Given the description of an element on the screen output the (x, y) to click on. 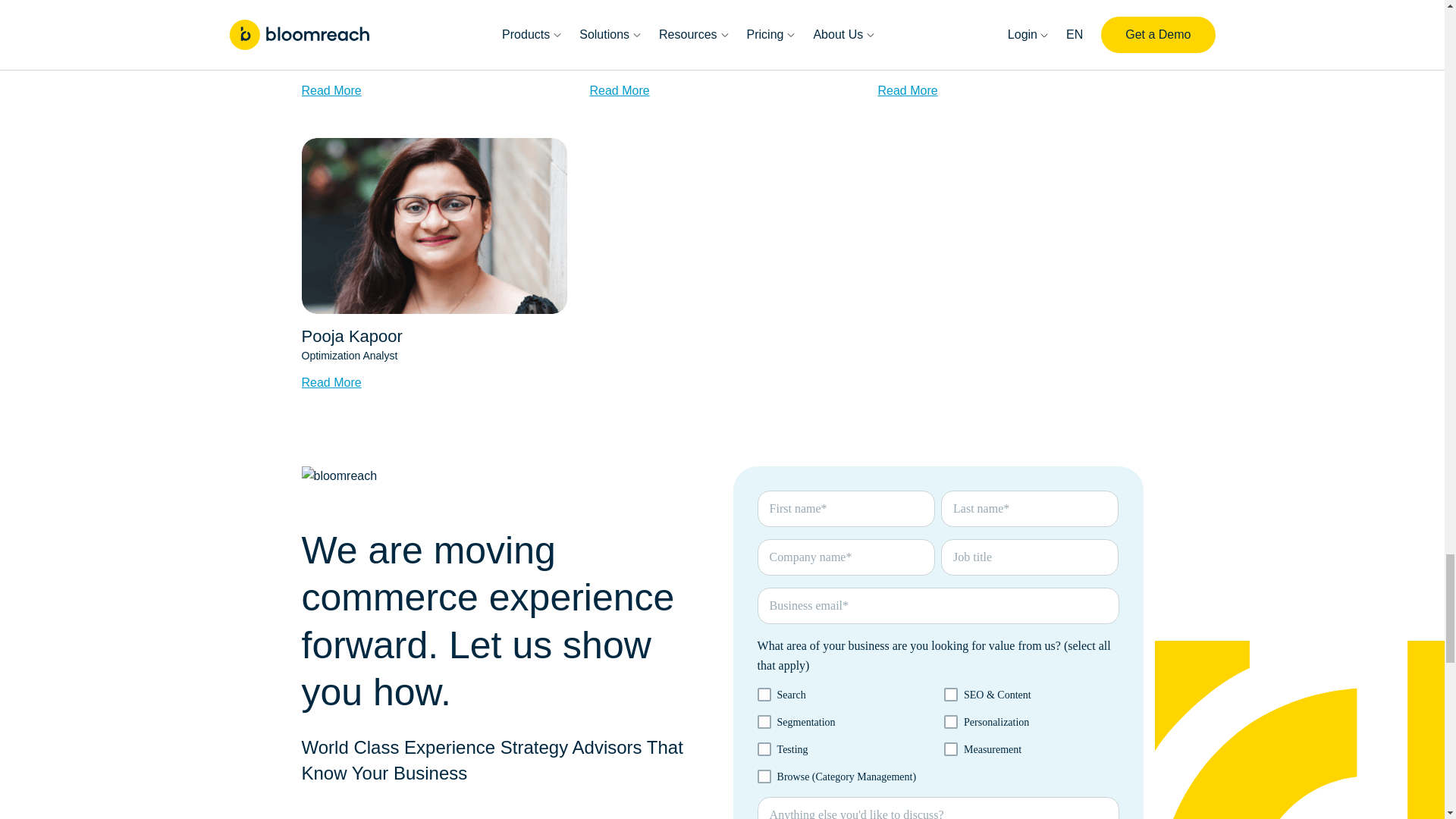
Testing (764, 748)
Personalization (950, 721)
Segmentation (764, 721)
Measurement (950, 748)
Search (764, 694)
